Given the description of an element on the screen output the (x, y) to click on. 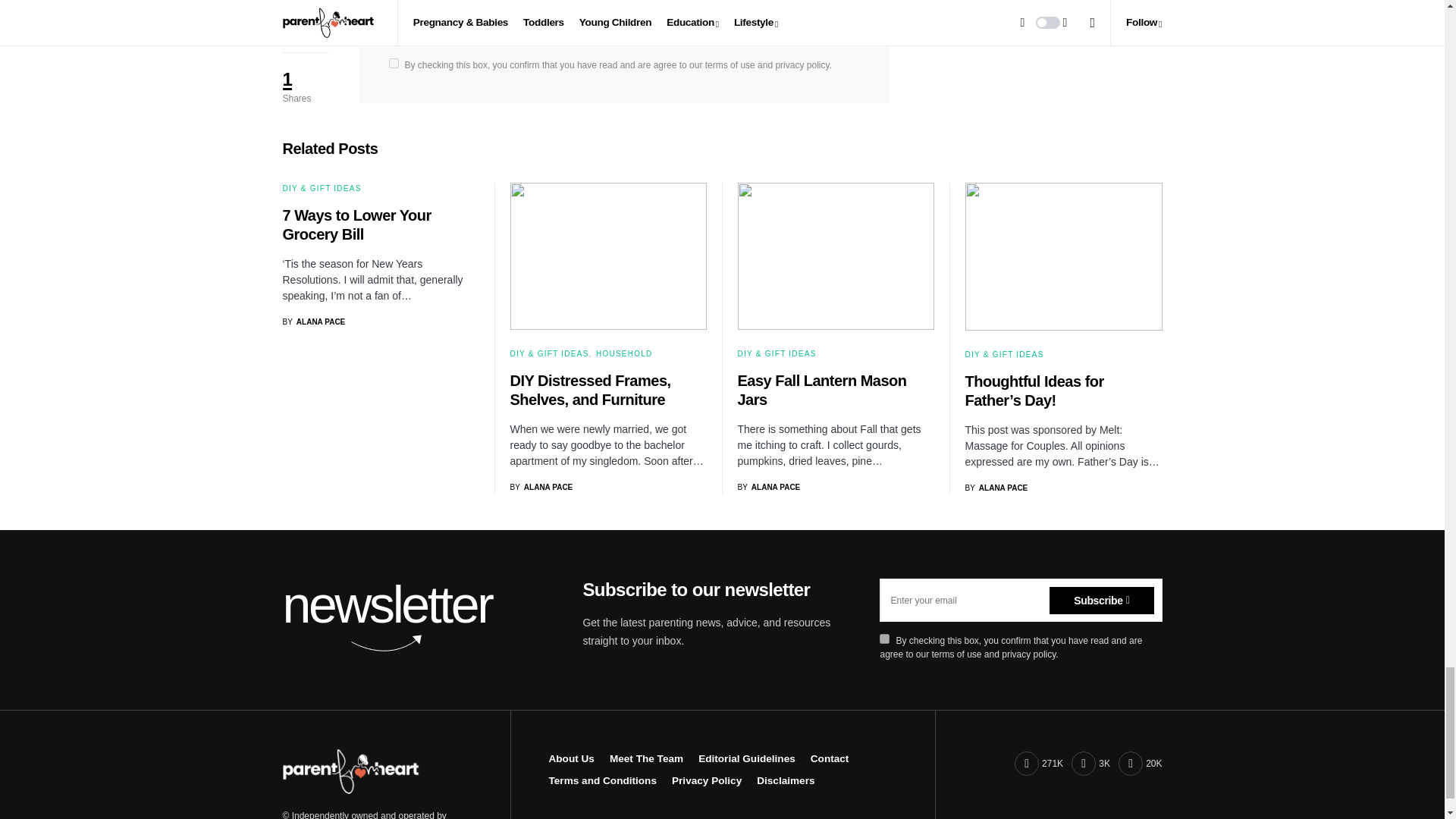
View all posts by Alana Pace (313, 321)
on (884, 638)
View all posts by Alana Pace (540, 487)
View all posts by Alana Pace (767, 487)
View all posts by Alana Pace (995, 487)
on (392, 62)
